Given the description of an element on the screen output the (x, y) to click on. 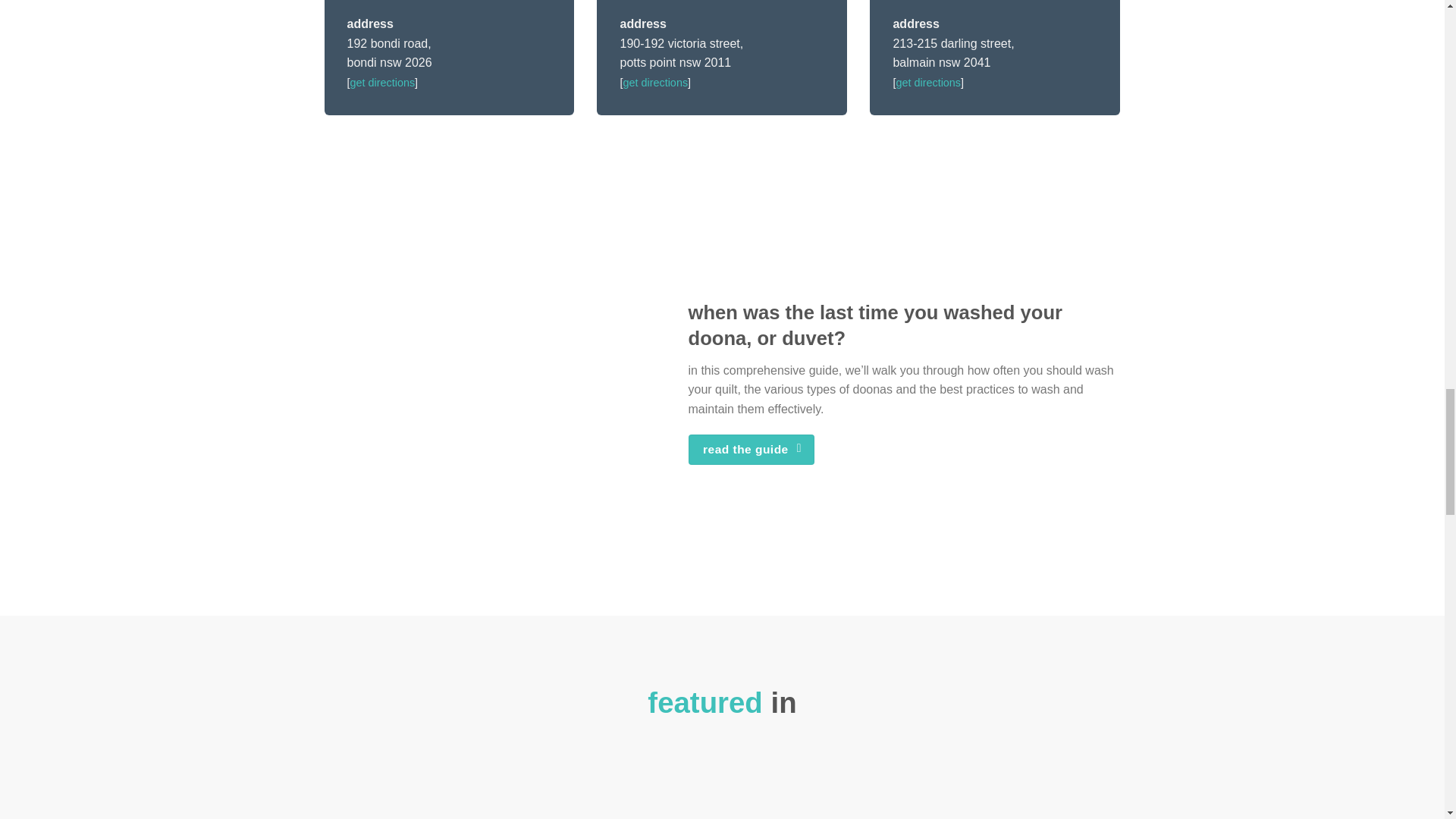
get directions (382, 82)
get directions (655, 82)
get directions (927, 82)
read the guide (751, 449)
